Given the description of an element on the screen output the (x, y) to click on. 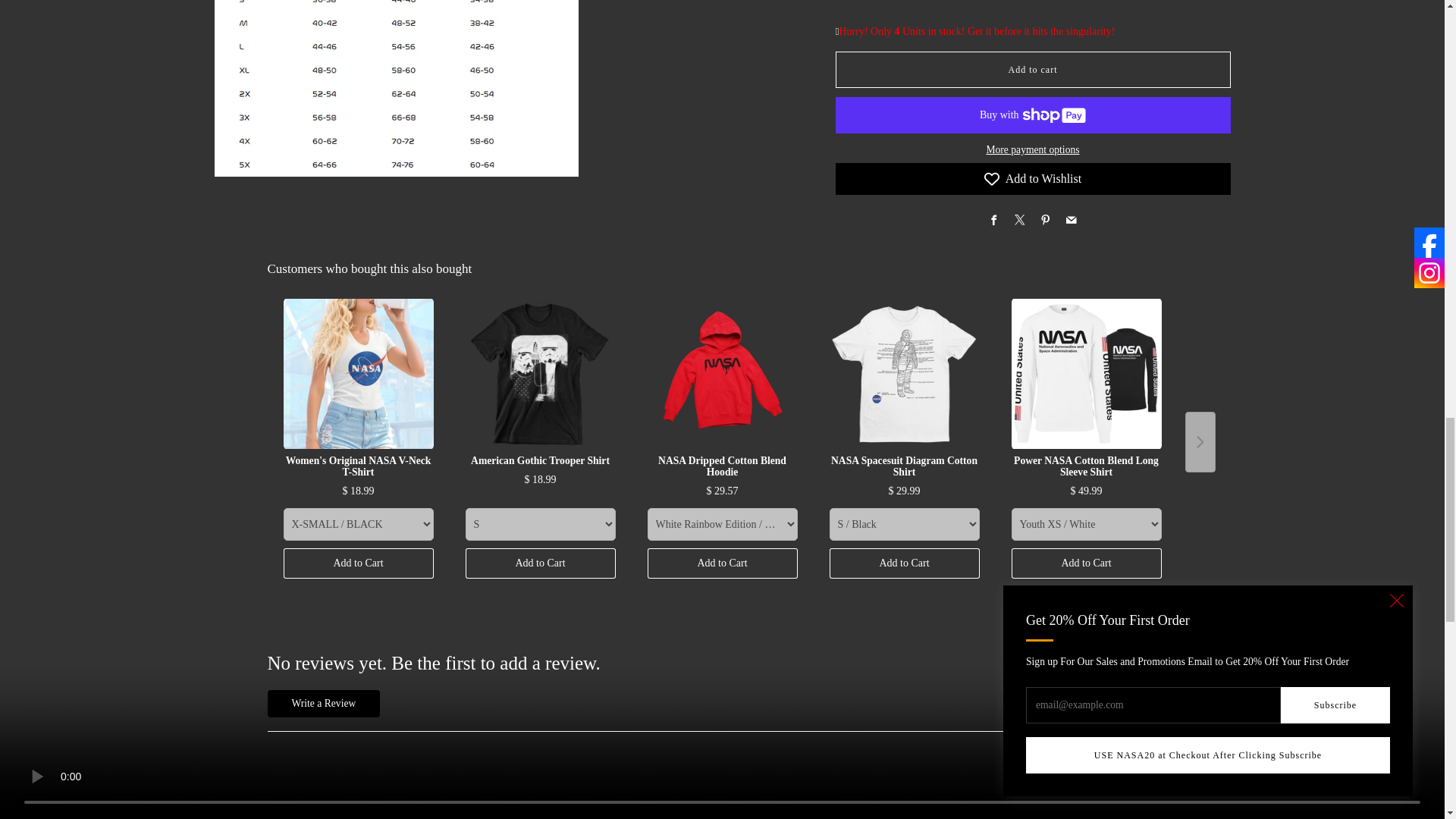
NASA Dripped Cotton Blend Hoodie (722, 373)
American Gothic Trooper Shirt (540, 373)
NASA Spacesuit Diagram Cotton Shirt (904, 373)
Power NASA Cotton Blend Long Sleeve Shirt (1086, 373)
Women's Original NASA V-Neck T-Shirt (358, 373)
